Given the description of an element on the screen output the (x, y) to click on. 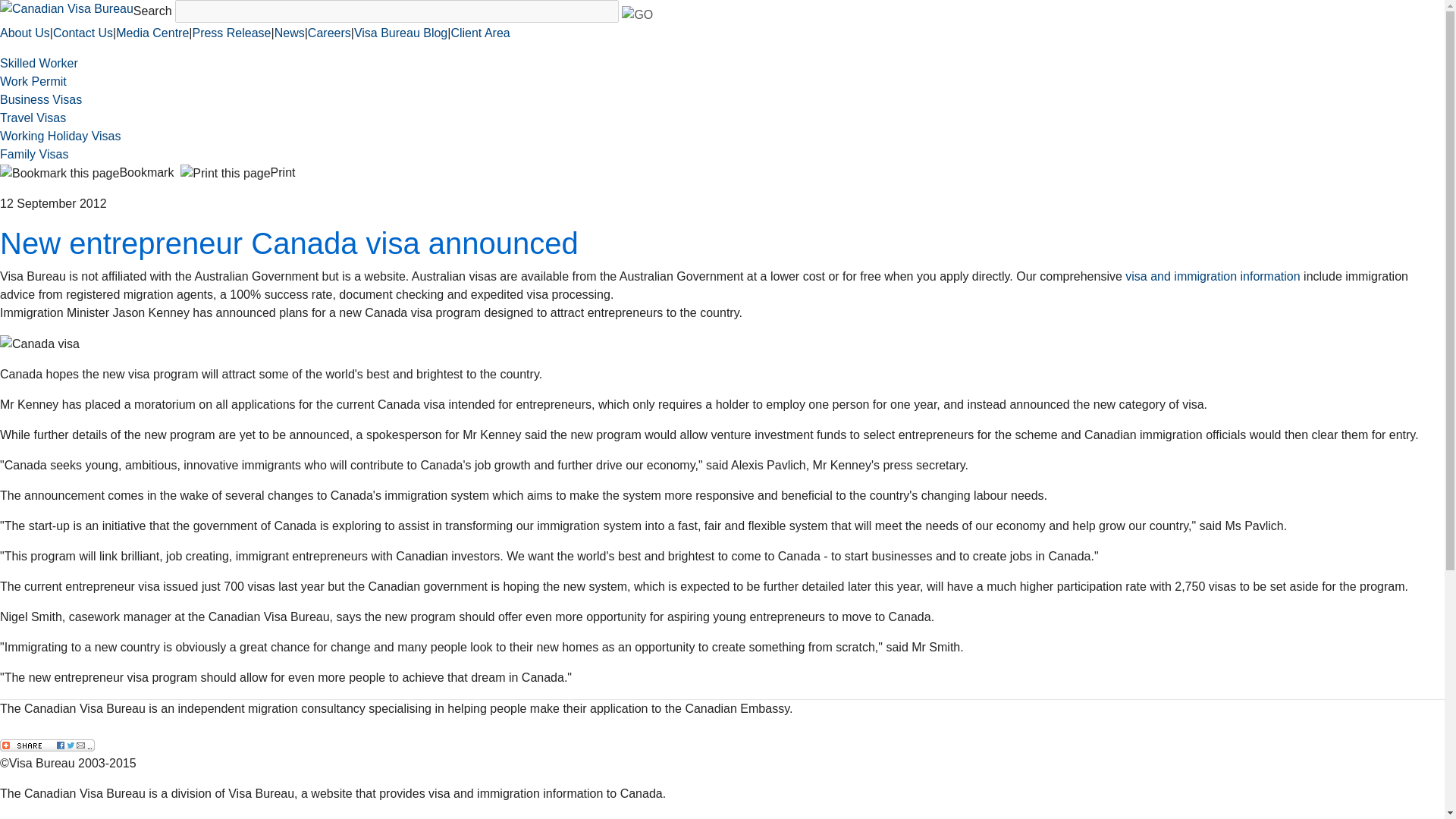
Business Visas (40, 99)
Visa Bureau Blog (399, 32)
Contact Us (293, 818)
Media Centre (152, 32)
Work Permit (33, 81)
Family Visas (34, 154)
Press Release (231, 32)
About Us (24, 32)
Visa Bureau Home (50, 818)
Careers (328, 32)
Privacy (243, 818)
Terms of Use (188, 818)
visa and immigration information (1212, 276)
Skilled Worker (39, 62)
Working Holiday Visas (60, 135)
